Given the description of an element on the screen output the (x, y) to click on. 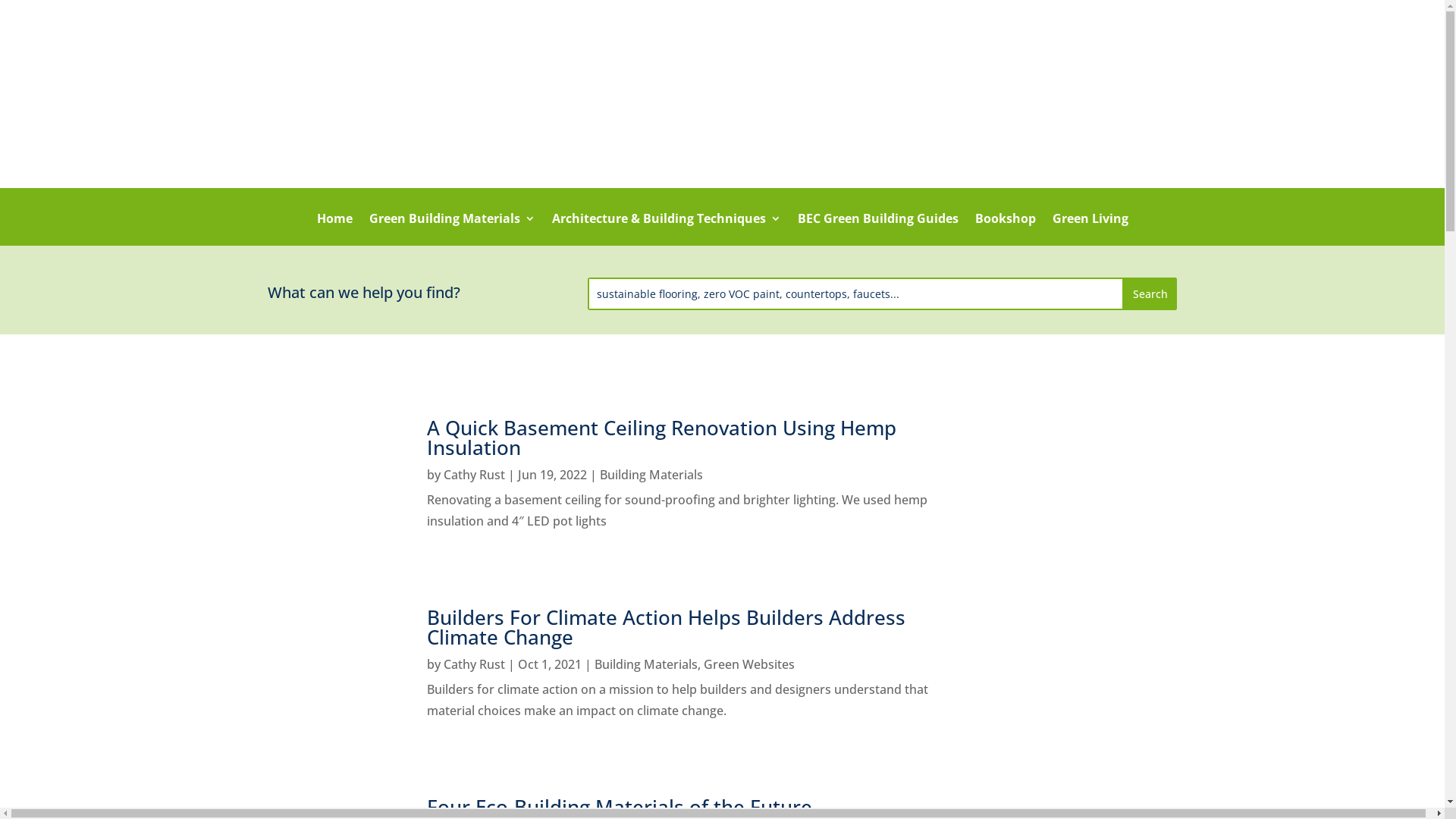
Green Websites Element type: text (748, 663)
Green Living Element type: text (1090, 229)
Green Building Materials Element type: text (451, 229)
Building Materials Element type: text (650, 474)
Cathy Rust Element type: text (473, 663)
Bookshop Element type: text (1005, 229)
Building Materials Element type: text (645, 663)
A Quick Basement Ceiling Renovation Using Hemp Insulation Element type: text (660, 437)
Home Element type: text (334, 229)
BEC Green Building Guides Element type: text (877, 229)
Cathy Rust Element type: text (473, 474)
Search Element type: text (1149, 293)
Architecture & Building Techniques Element type: text (666, 229)
